Given the description of an element on the screen output the (x, y) to click on. 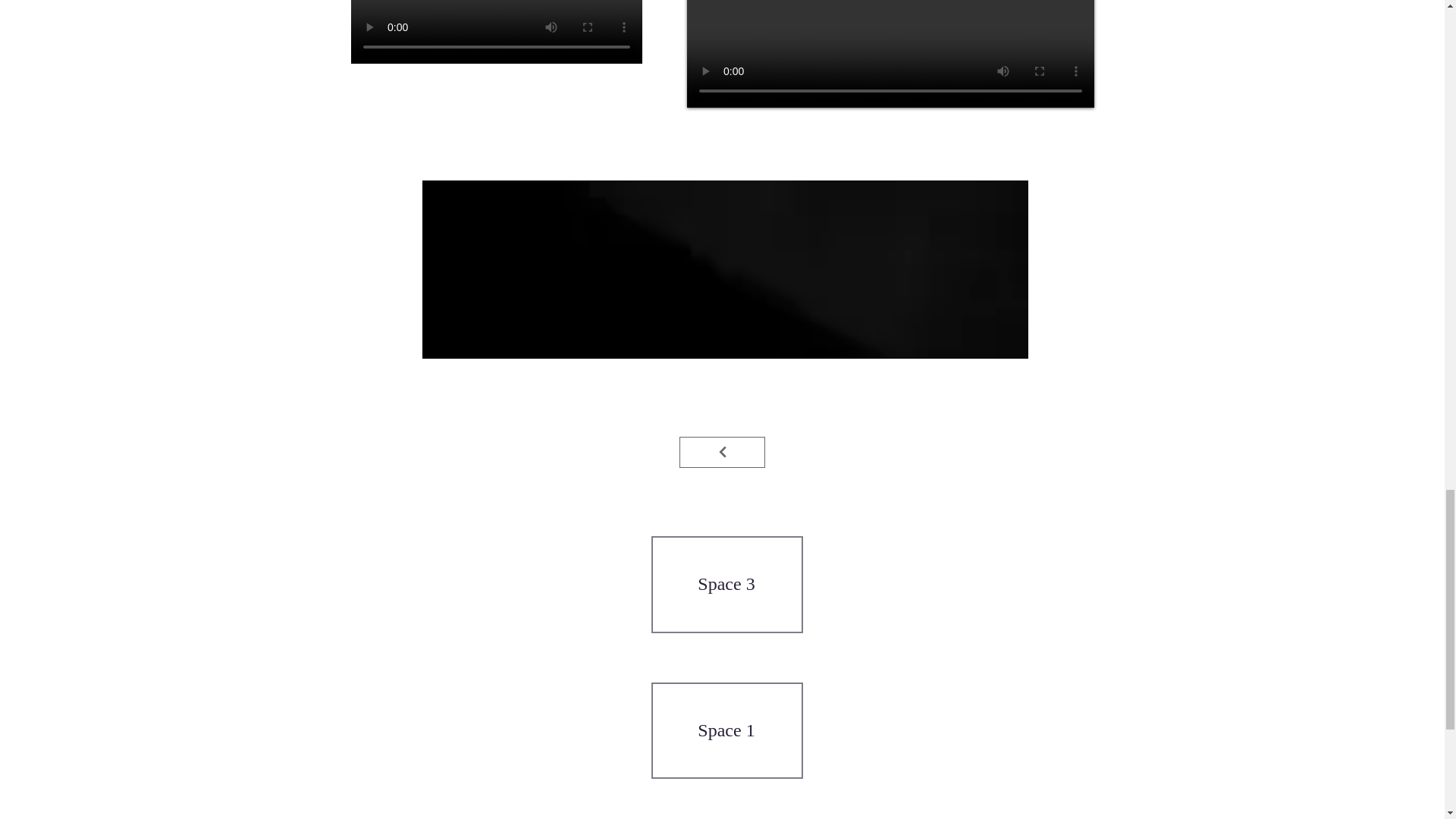
Space 3 (725, 583)
Space 1 (725, 730)
